Given the description of an element on the screen output the (x, y) to click on. 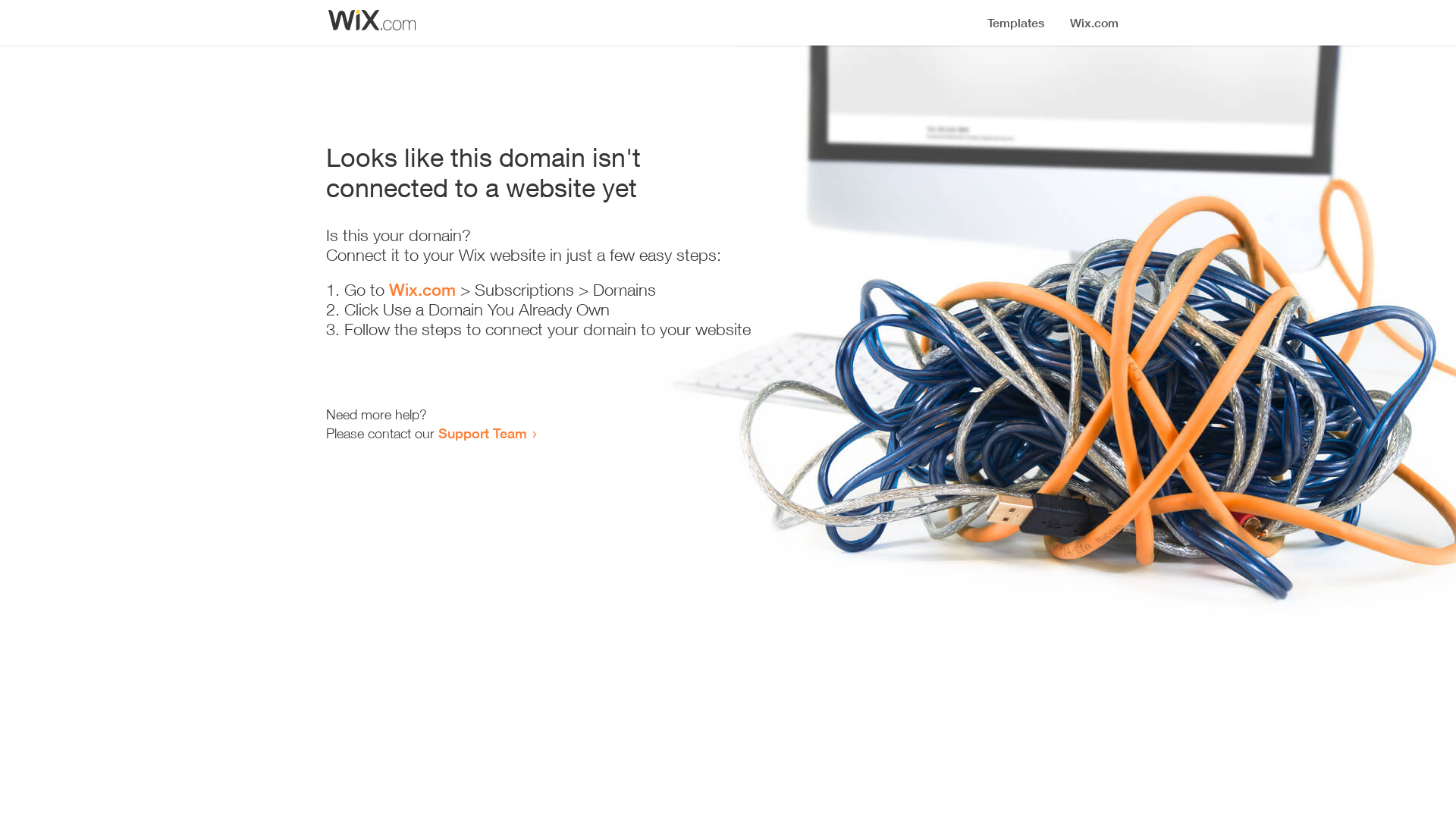
Wix.com Element type: text (422, 289)
Support Team Element type: text (482, 432)
